Given the description of an element on the screen output the (x, y) to click on. 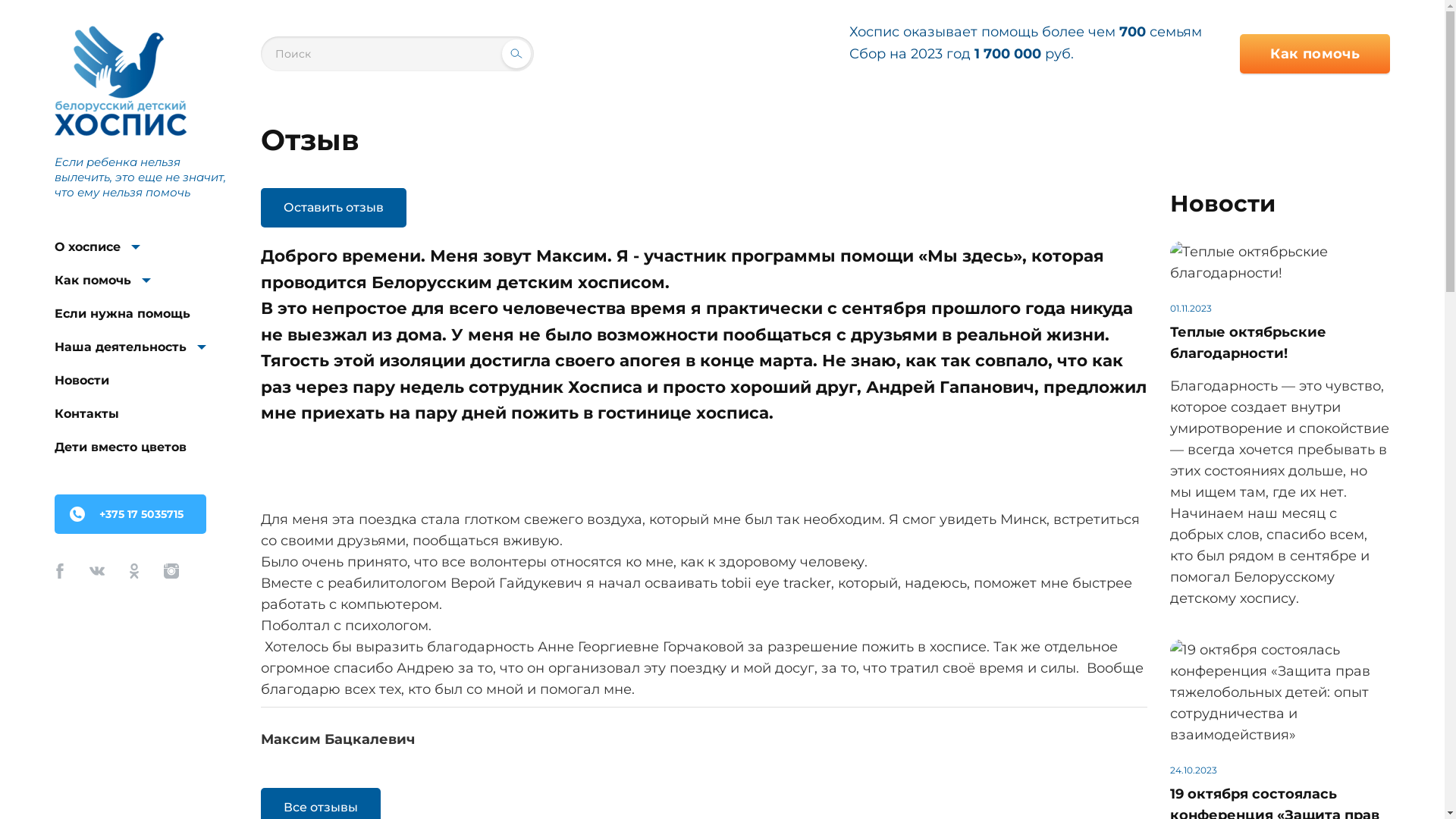
Instagram Element type: text (170, 570)
+375 17 5035715 Element type: text (130, 513)
Facebook Element type: text (59, 570)
Odnoklassniki Element type: text (133, 570)
Vkontakte Element type: text (96, 570)
